Given the description of an element on the screen output the (x, y) to click on. 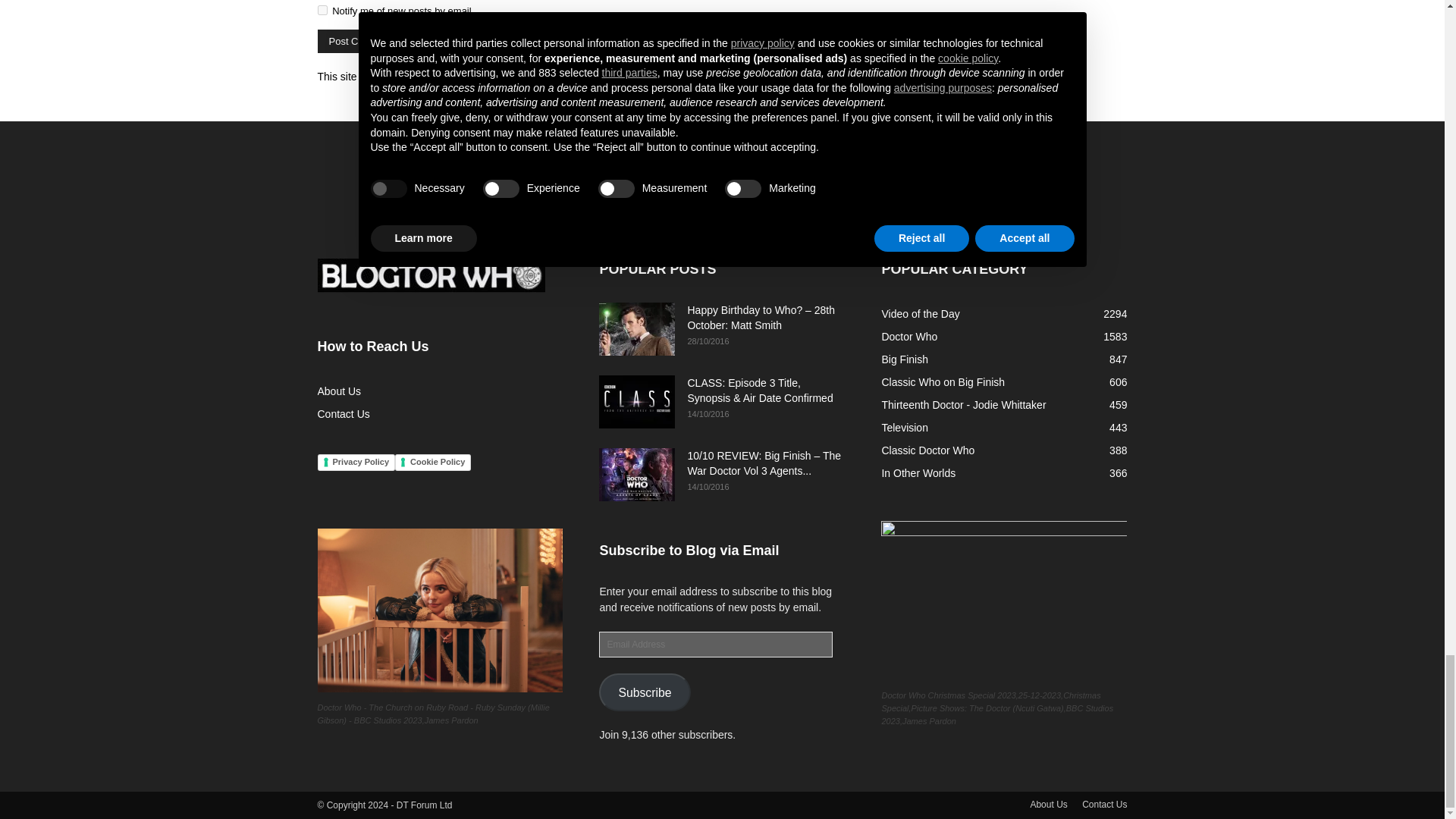
subscribe (321, 9)
Post Comment (360, 41)
